Given the description of an element on the screen output the (x, y) to click on. 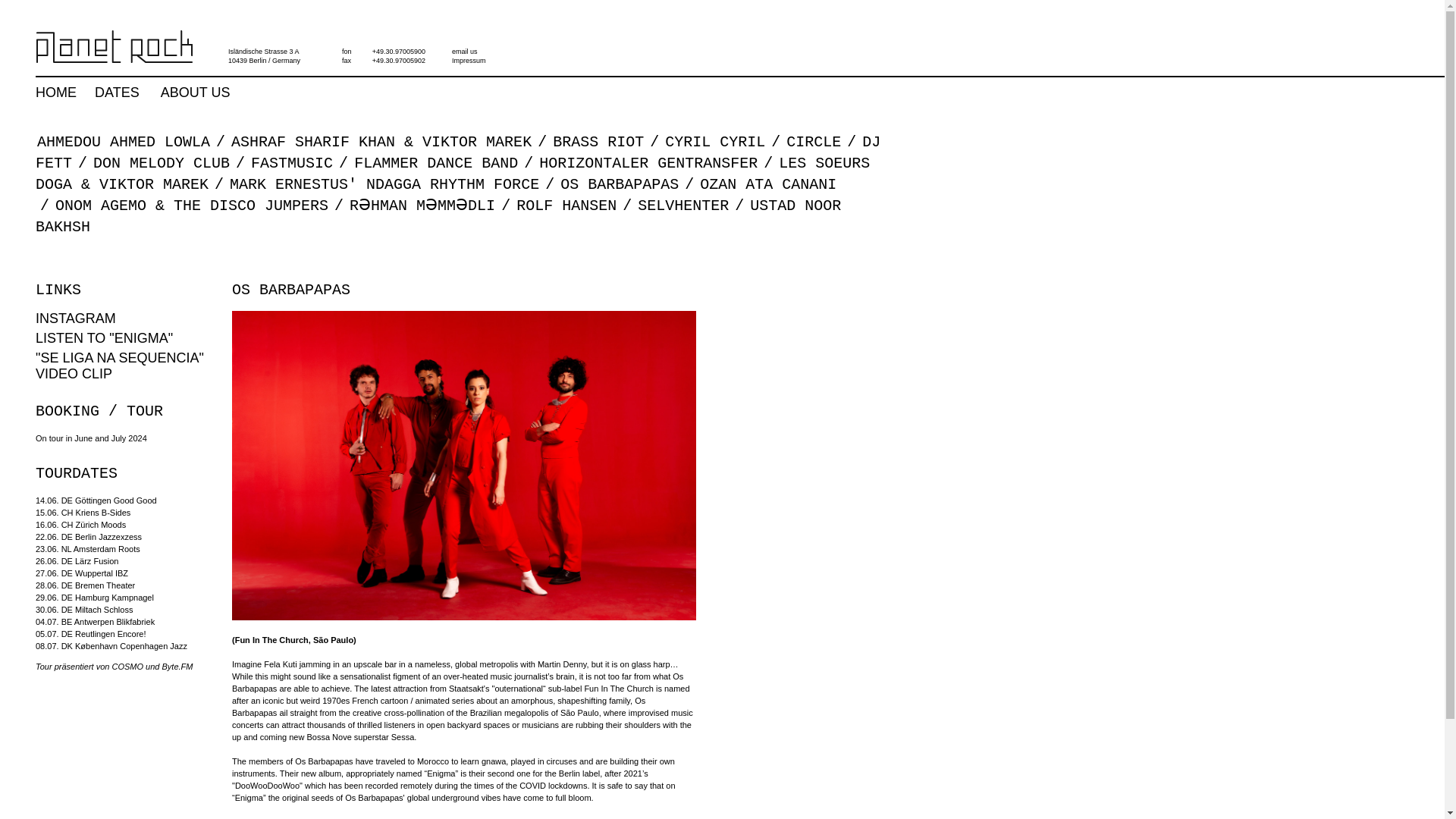
DJ FETT (457, 152)
Impressum (468, 60)
LISTEN TO "ENIGMA" (103, 337)
ABOUT US (195, 92)
CYRIL CYRIL (715, 141)
DON MELODY CLUB (161, 162)
MARK ERNESTUS' NDAGGA RHYTHM FORCE (384, 184)
FASTMUSIC (291, 162)
DATES (116, 92)
SELVHENTER (683, 205)
